Given the description of an element on the screen output the (x, y) to click on. 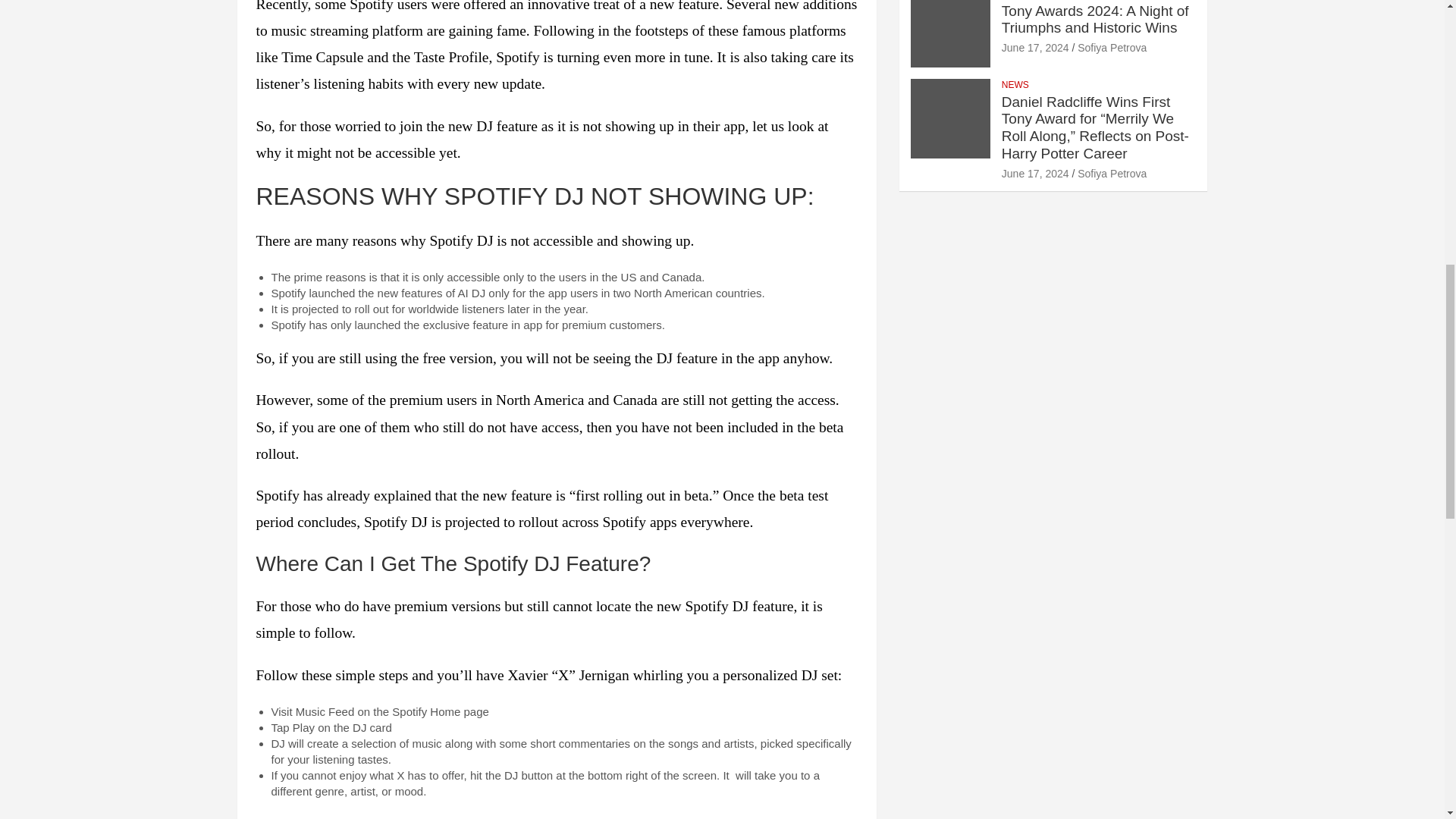
Tony Awards 2024: A Night of Triumphs and Historic Wins (1034, 47)
